Given the description of an element on the screen output the (x, y) to click on. 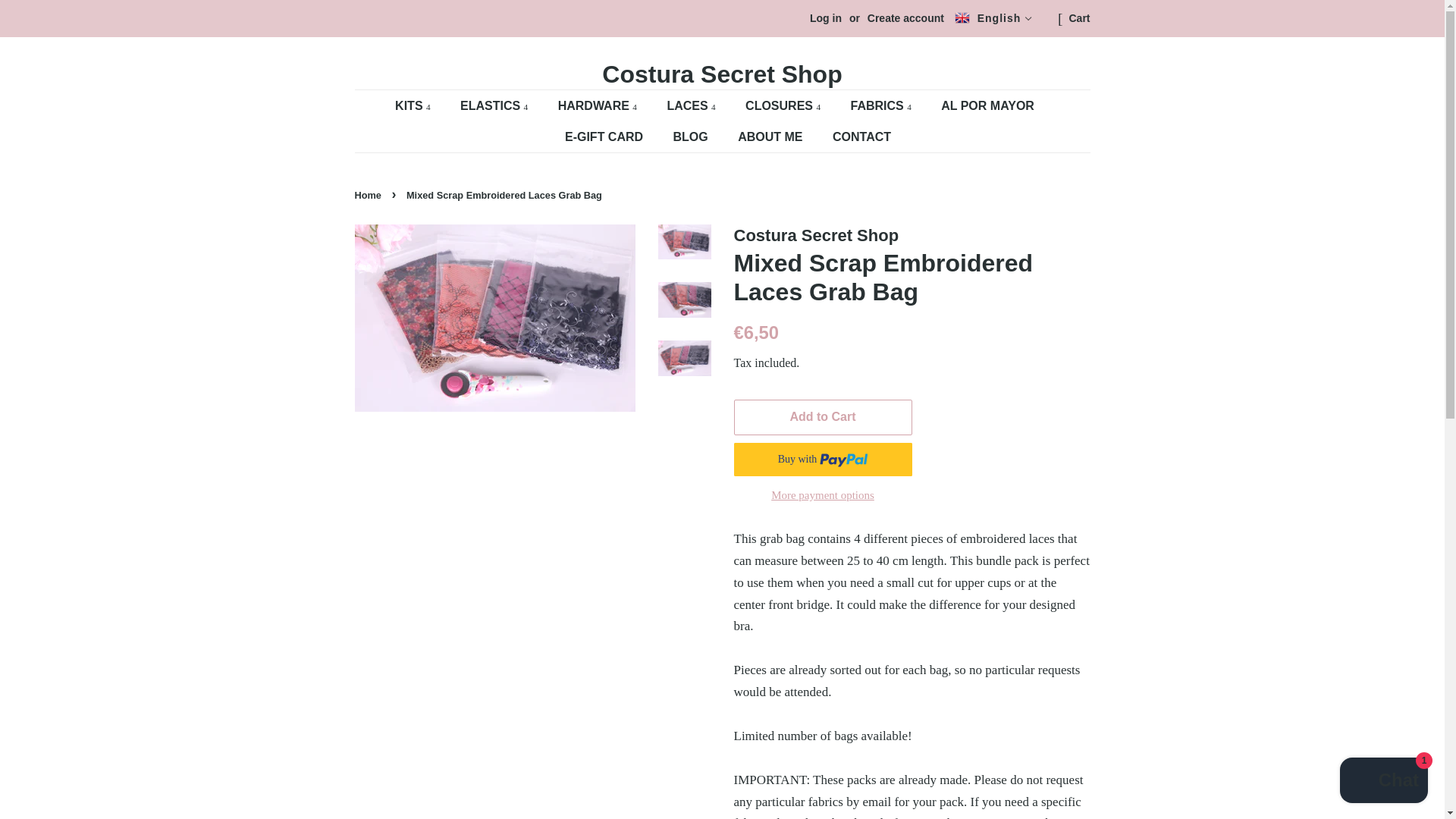
Shopify online store chat (1383, 781)
Log in (825, 18)
Cart (1078, 18)
Back to the frontpage (370, 194)
Create account (905, 18)
